Given the description of an element on the screen output the (x, y) to click on. 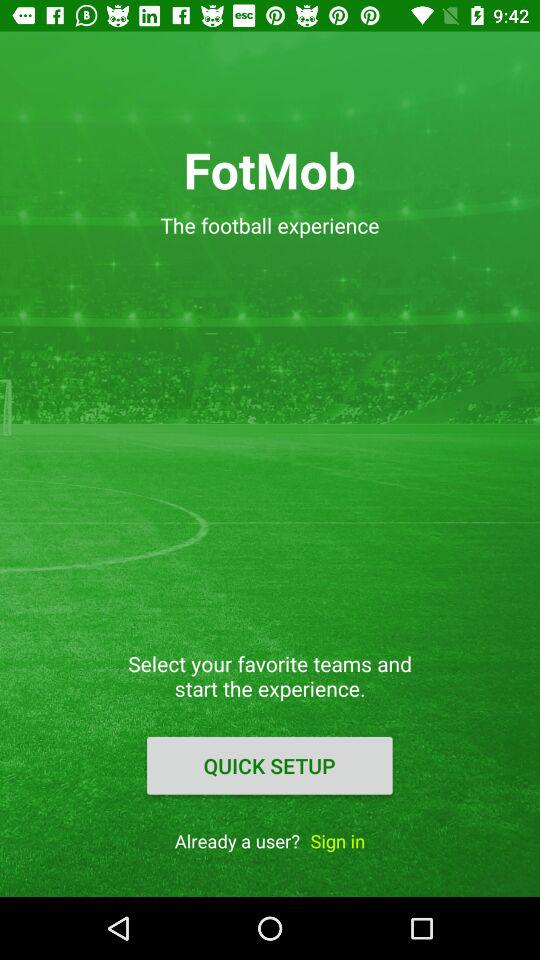
turn on the item next to the already a user? icon (337, 840)
